Given the description of an element on the screen output the (x, y) to click on. 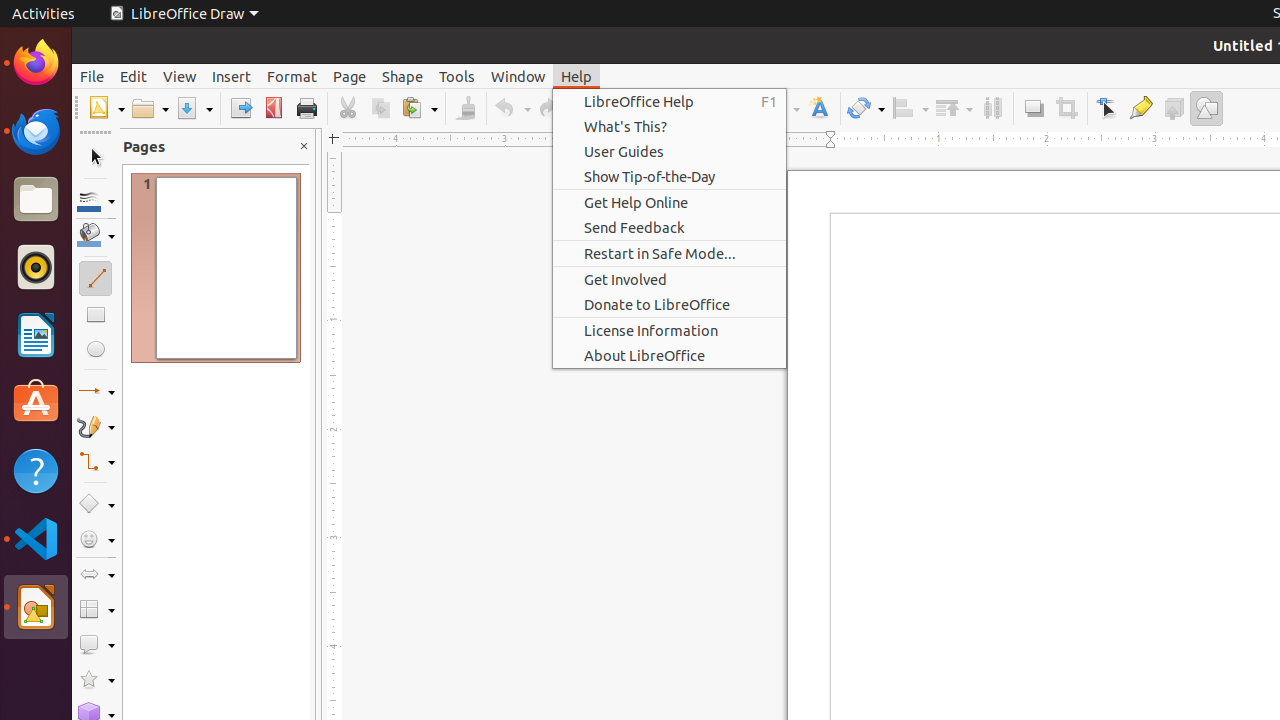
View Element type: menu (179, 76)
Edit Element type: menu (133, 76)
Get Involved Element type: menu-item (669, 279)
LibreOffice Draw Element type: menu (183, 13)
PDF Element type: push-button (273, 108)
